Given the description of an element on the screen output the (x, y) to click on. 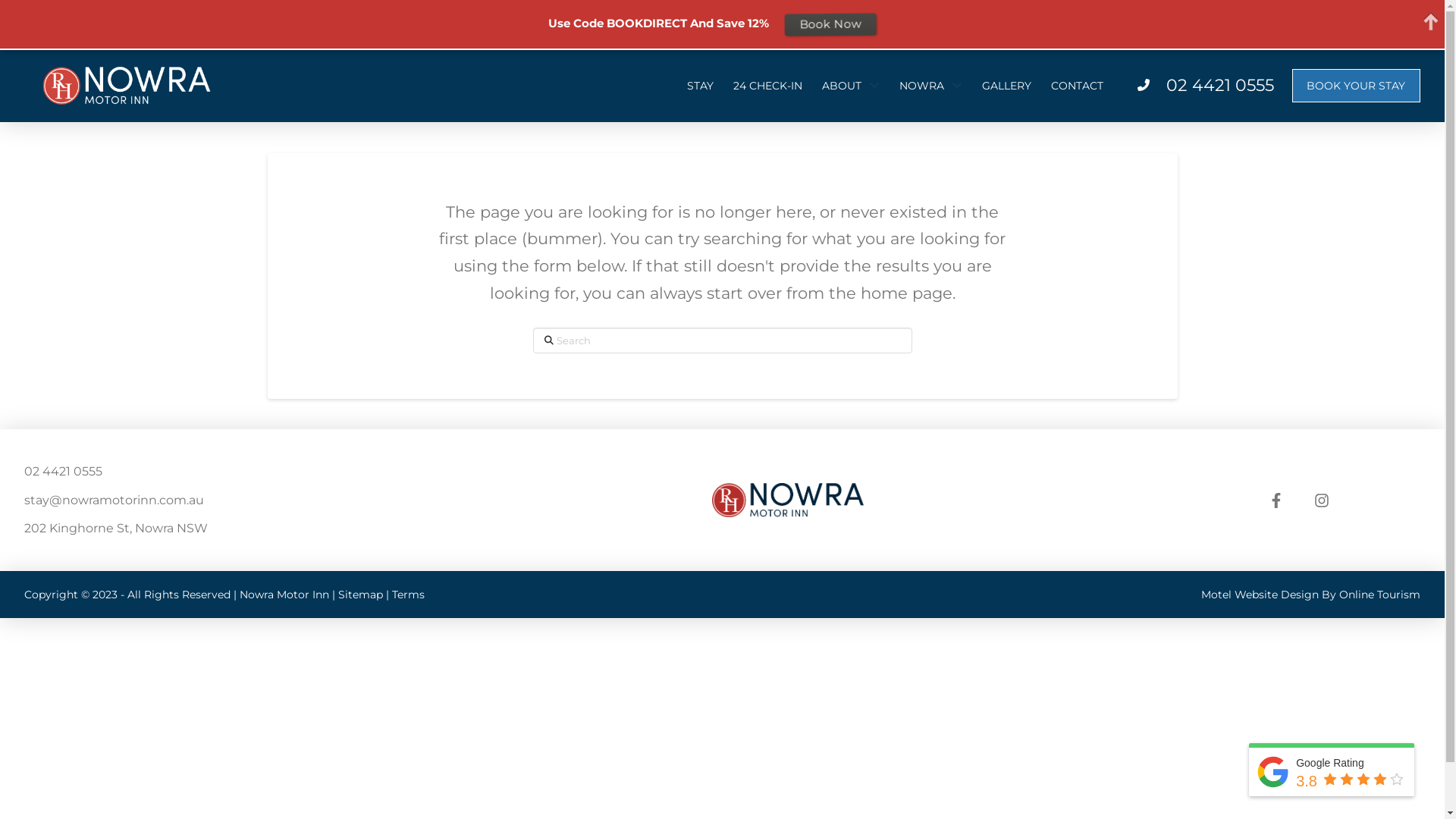
BOOK YOUR STAY Element type: text (1356, 85)
NOWRA Element type: text (930, 85)
Sitemap Element type: text (360, 594)
ABOUT Element type: text (850, 85)
STAY Element type: text (700, 85)
Terms Element type: text (408, 594)
GALLERY Element type: text (1006, 85)
02 4421 0555 Element type: text (1220, 85)
Google Rating
3.8 Element type: text (1331, 771)
Online Tourism Element type: text (1379, 594)
24 CHECK-IN Element type: text (767, 85)
Nowra Motor Inn Element type: text (284, 594)
Motel Website Design Element type: text (1259, 594)
CONTACT Element type: text (1077, 85)
